Given the description of an element on the screen output the (x, y) to click on. 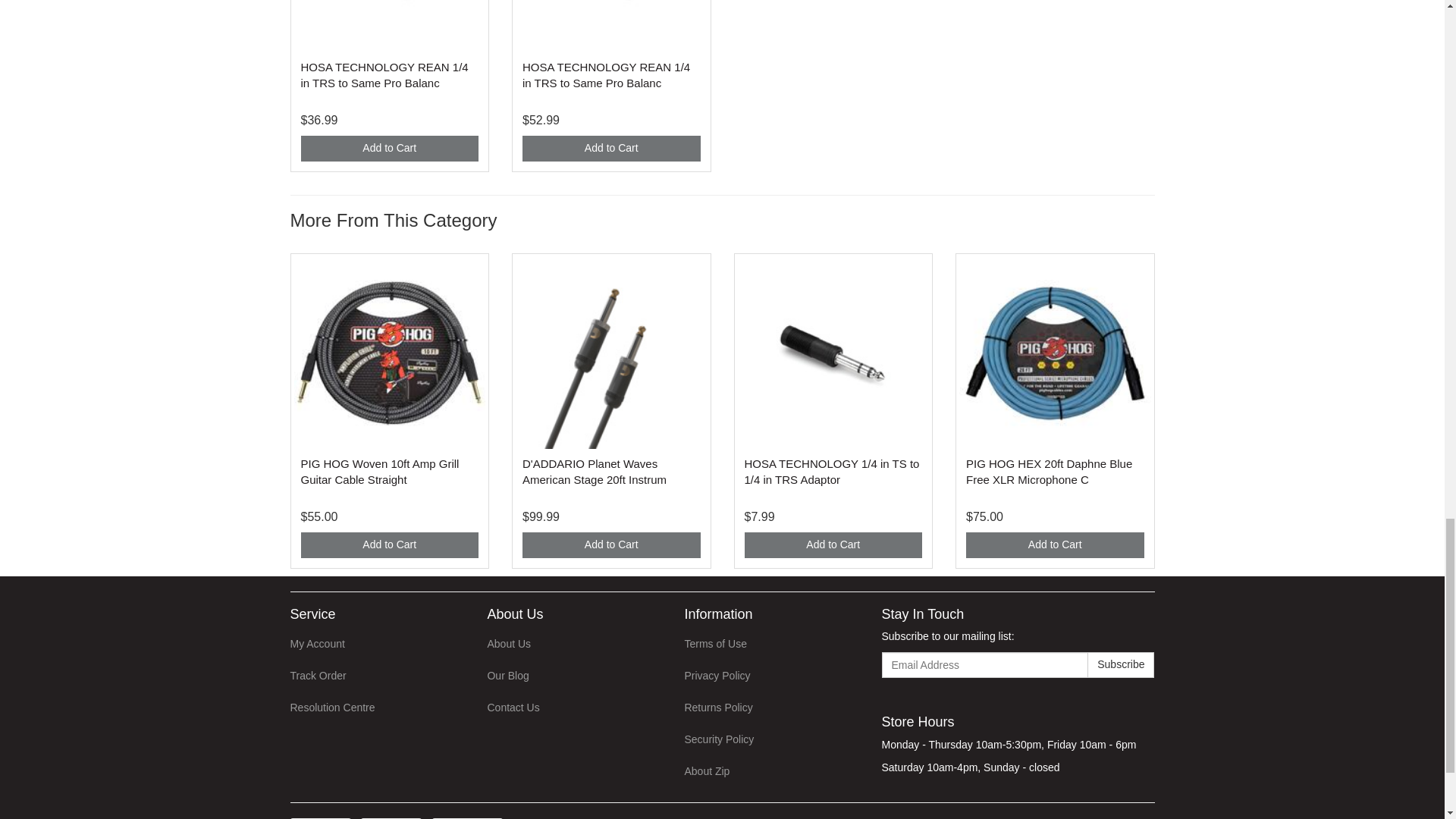
Add to Cart (389, 544)
Subscribe (1120, 664)
Add to Cart (389, 148)
Add to Cart (611, 544)
D'ADDARIO Planet Waves American Stage 20ft Instrument Cable (594, 471)
PIG HOG HEX 20ft Daphne Blue Free XLR Microphone Cable (1049, 471)
Add to Cart (611, 148)
Add to Cart (1055, 544)
Add to Cart (833, 544)
PIG HOG Woven 10ft Amp Grill Guitar Cable Straight Jack (378, 471)
